Given the description of an element on the screen output the (x, y) to click on. 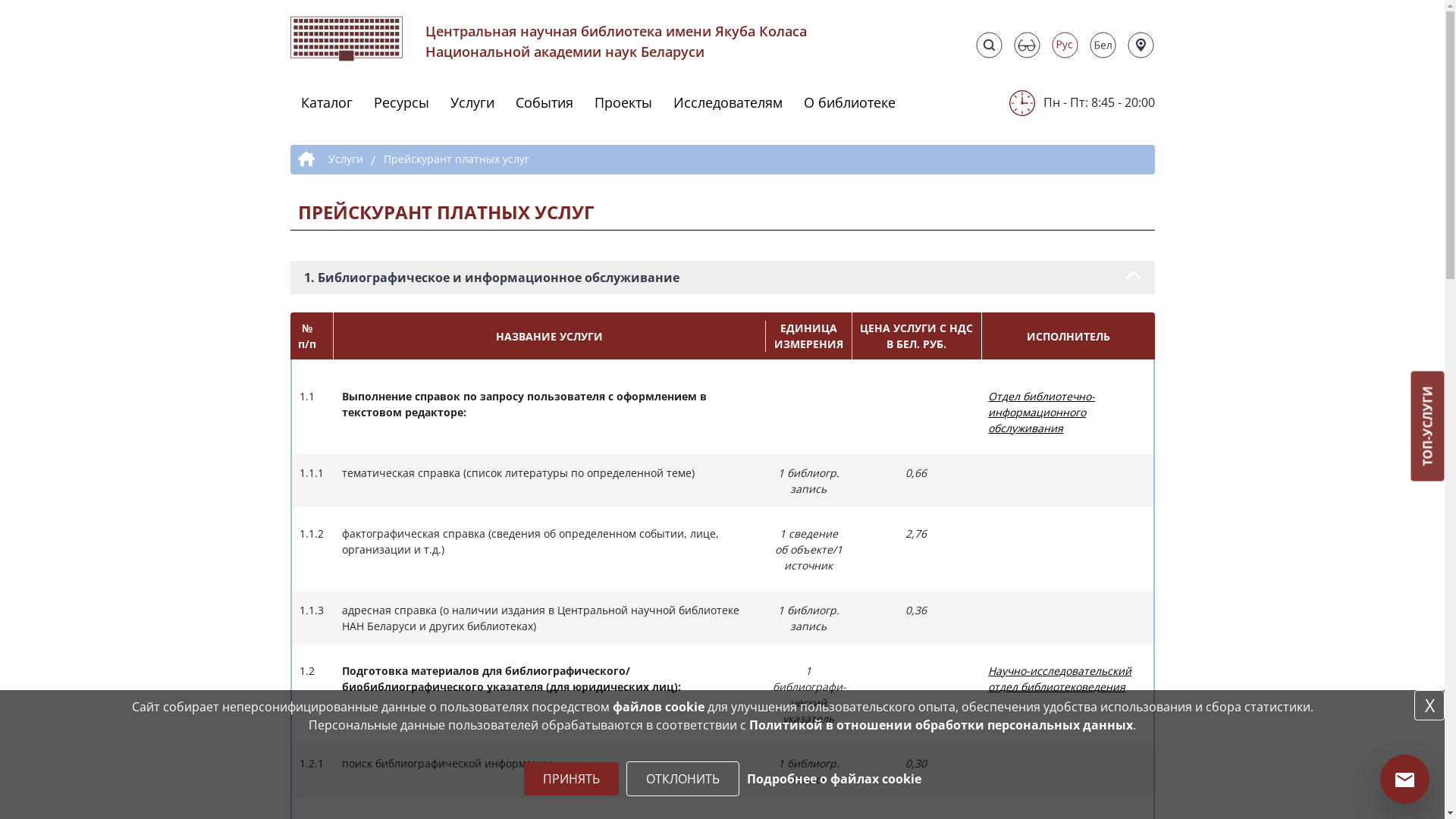
X Element type: text (1429, 705)
+375 17 323-54-28 Element type: text (1006, 72)
